Given the description of an element on the screen output the (x, y) to click on. 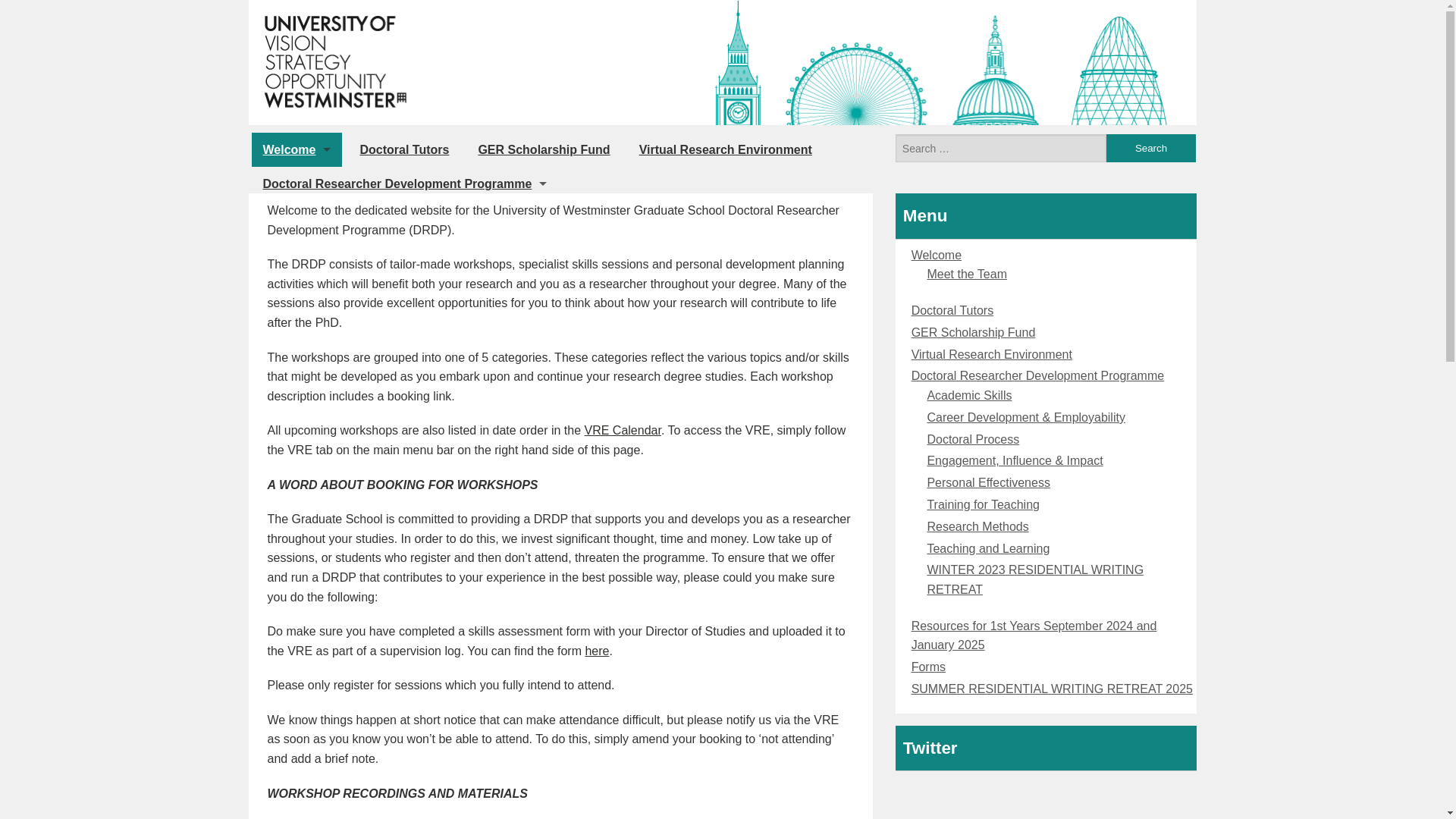
Doctoral Process (405, 286)
Meet the Team (966, 273)
WINTER 2023 RESIDENTIAL WRITING RETREAT (405, 490)
Search (1150, 148)
GER Scholarship Fund (973, 332)
Training for Teaching (405, 388)
Virtual Research Environment (991, 354)
Doctoral Researcher Development Programme (1037, 375)
Doctoral Researcher Development Programme (405, 183)
Doctoral Tutors (403, 149)
Search (1150, 148)
Resources for 1st Years September 2024 and January 2025 (432, 217)
Research Methods (405, 422)
Meet the Team (296, 183)
here (596, 650)
